Given the description of an element on the screen output the (x, y) to click on. 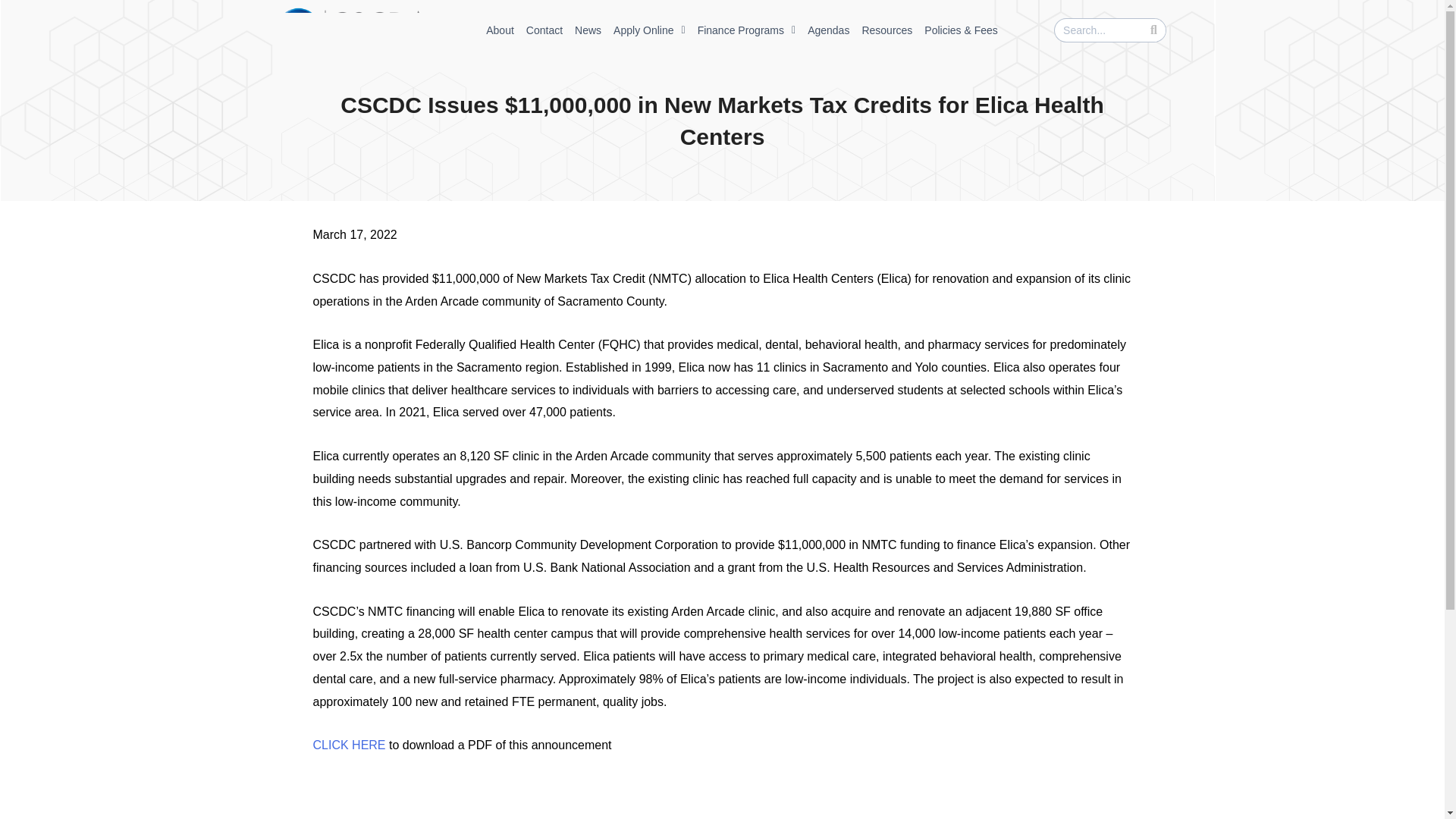
News (588, 30)
Contact (544, 30)
About (499, 30)
Search (1097, 29)
Resources (887, 30)
Agendas (829, 30)
Search (1153, 29)
Apply Online (649, 30)
Finance Programs (746, 30)
